Given the description of an element on the screen output the (x, y) to click on. 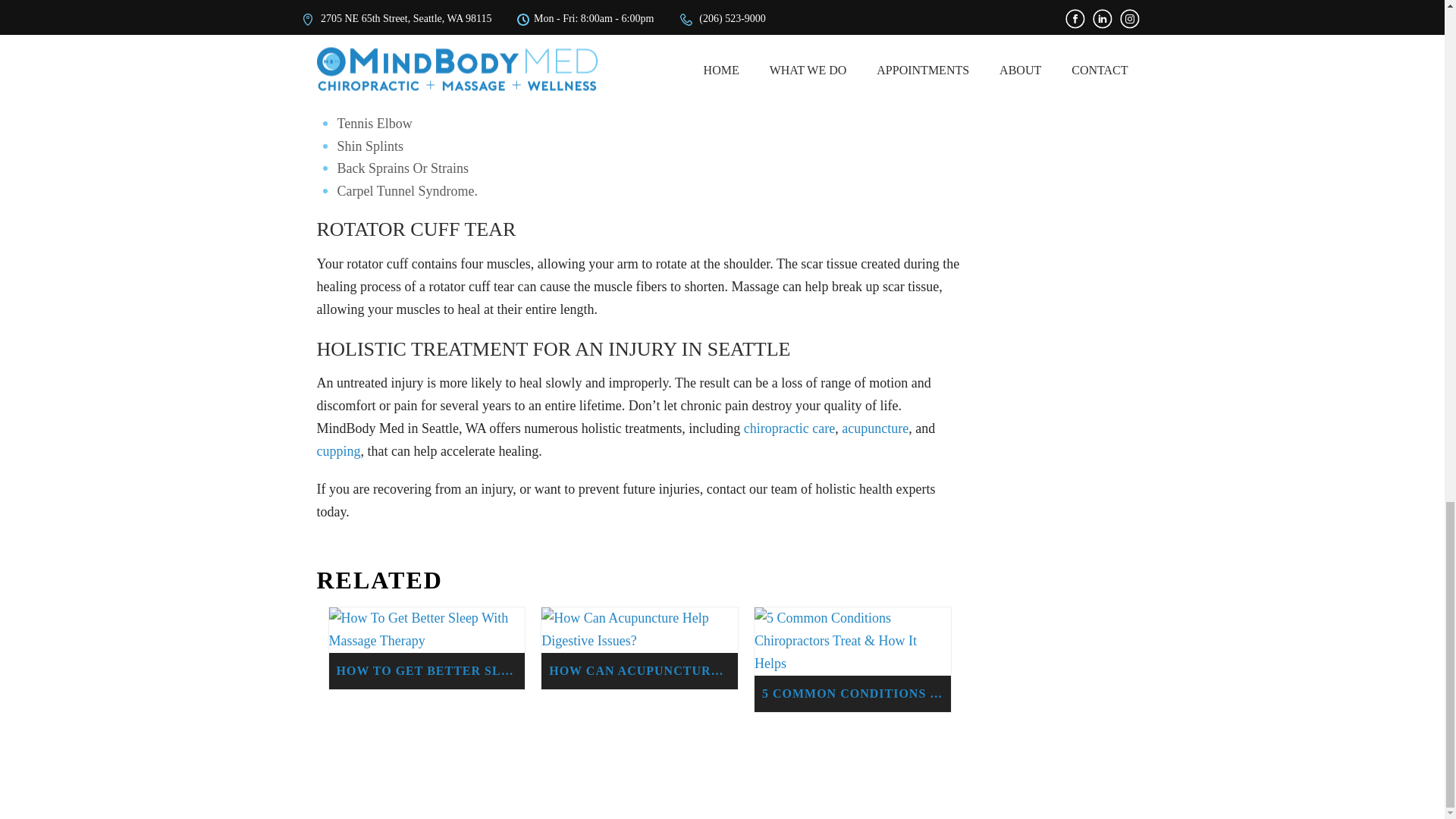
How To Get Better Sleep With Massage Therapy (427, 629)
How Can Acupuncture Help Digestive Issues? (639, 629)
